Given the description of an element on the screen output the (x, y) to click on. 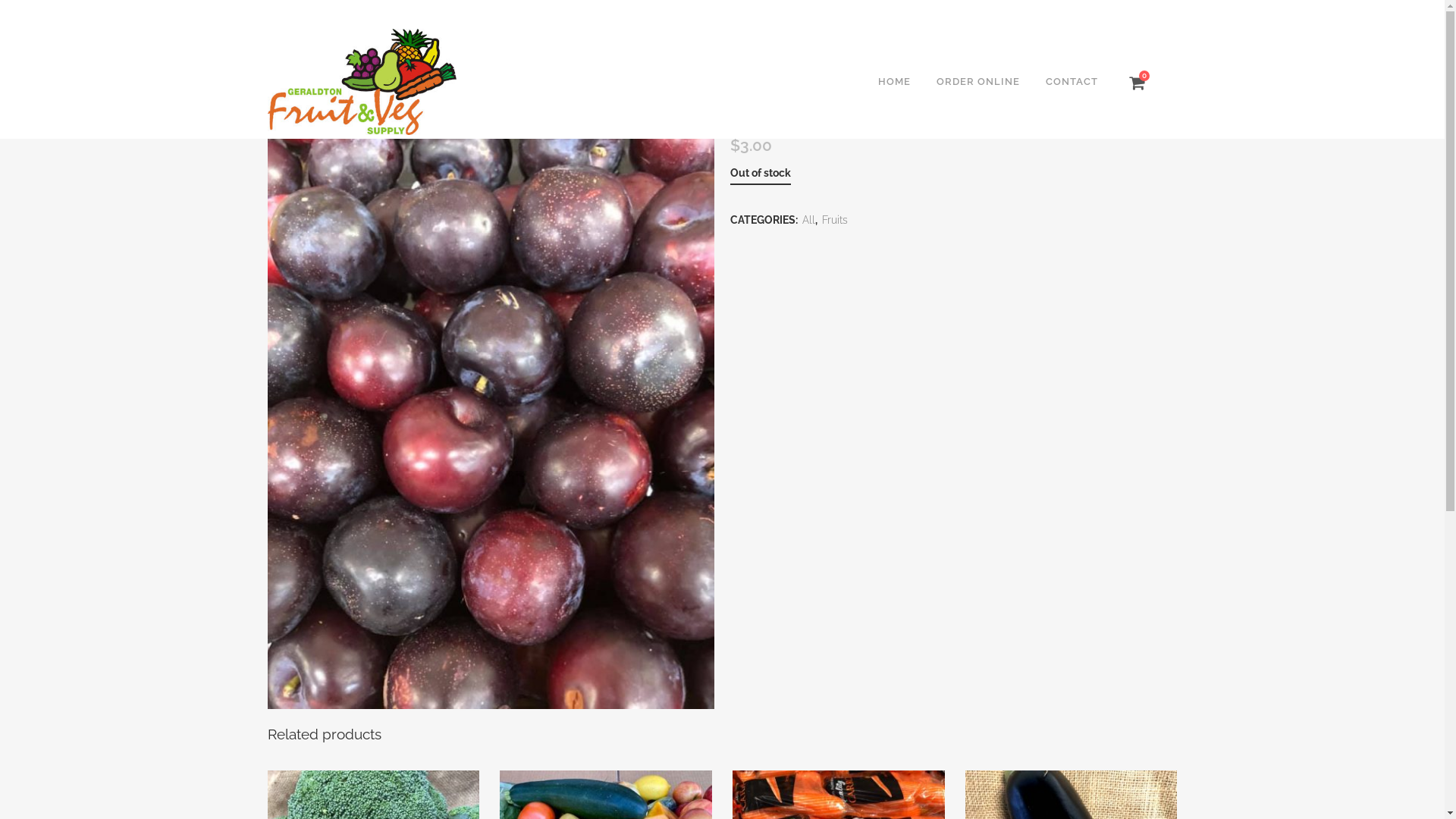
125887845_10158564431278361_6187826267543647813_n Element type: hover (489, 411)
ORDER ONLINE Element type: text (977, 81)
HOME Element type: text (893, 81)
Fruits Element type: text (834, 219)
(08) 9921 2940 Element type: text (319, 12)
CONTACT Element type: text (1071, 81)
All Element type: text (808, 219)
0 Element type: text (1135, 82)
